Given the description of an element on the screen output the (x, y) to click on. 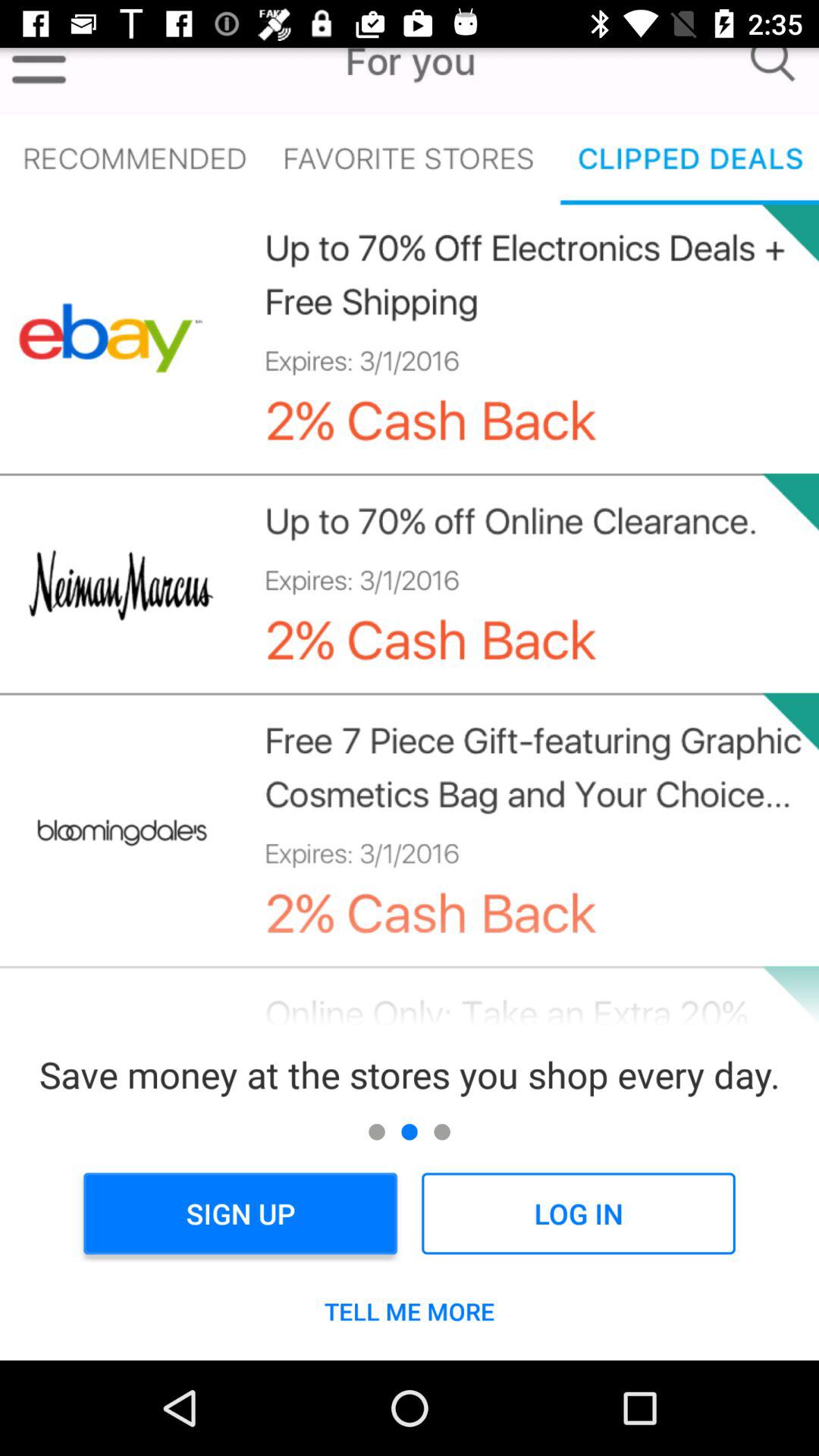
click icon above the tell me more (240, 1213)
